Given the description of an element on the screen output the (x, y) to click on. 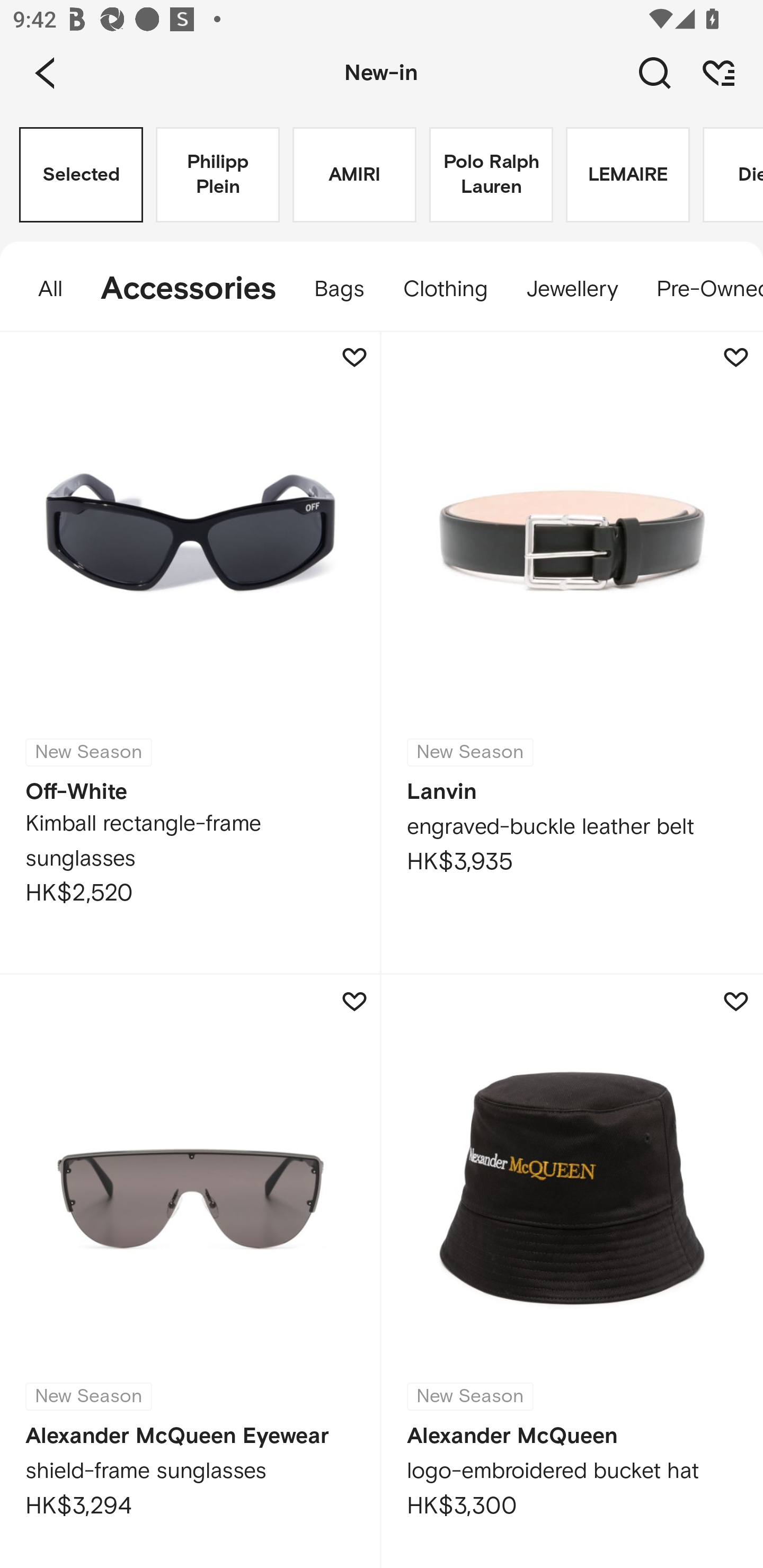
Selected (81, 174)
Philipp Plein (217, 174)
AMIRI (354, 174)
Polo Ralph Lauren (490, 174)
LEMAIRE (627, 174)
All (40, 289)
Accessories (188, 289)
Bags (339, 289)
Clothing (444, 289)
Jewellery (571, 289)
Pre-Owned (700, 289)
